Given the description of an element on the screen output the (x, y) to click on. 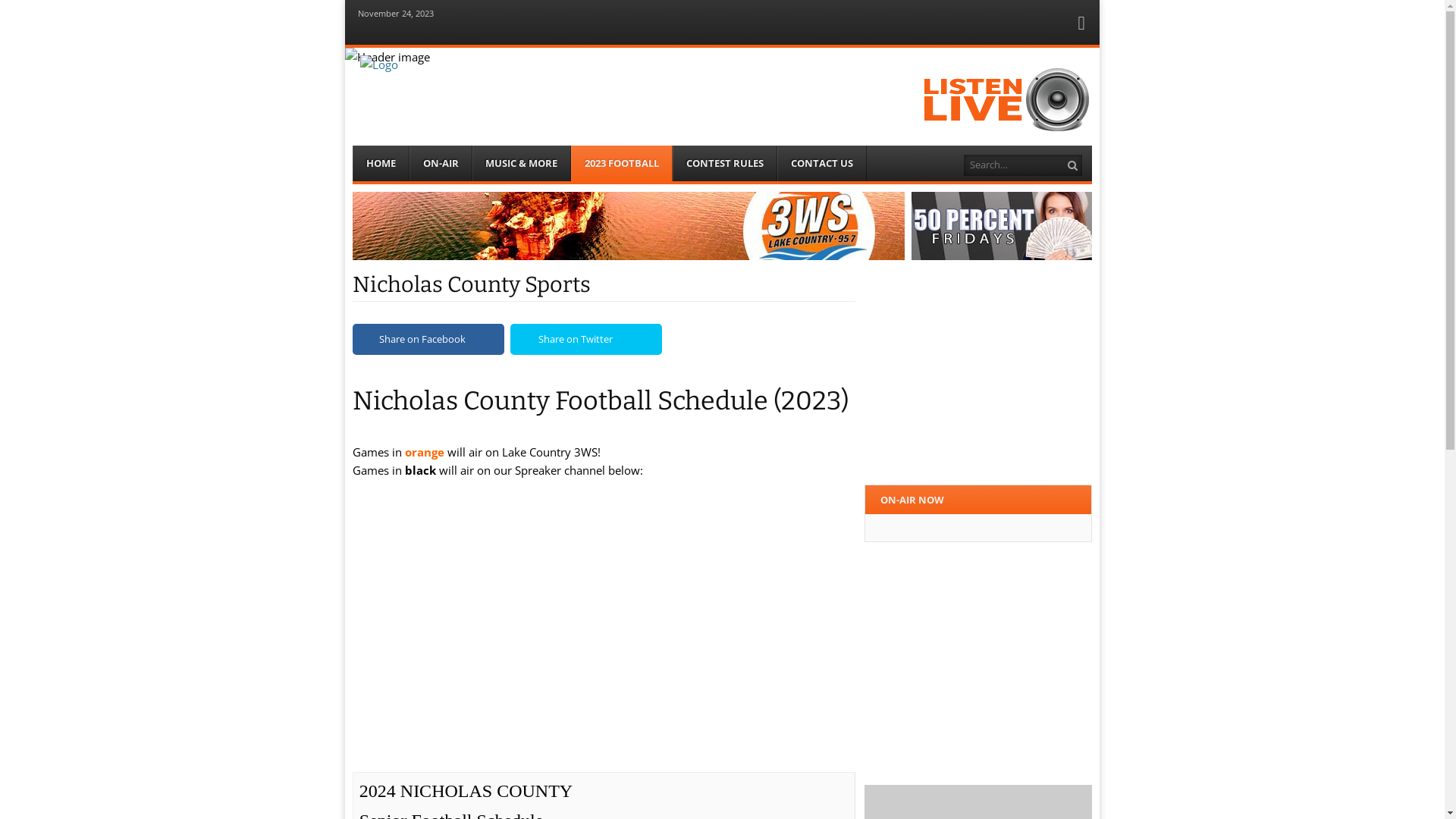
Facebook Element type: text (1081, 25)
CONTEST RULES Element type: text (724, 163)
ON-AIR Element type: text (440, 163)
CONTACT US Element type: text (821, 163)
2023 FOOTBALL Element type: text (621, 163)
Go Element type: text (1074, 165)
HOME Element type: text (380, 163)
MUSIC & MORE Element type: text (521, 163)
Share on Twitter Element type: text (586, 338)
Share on Facebook Element type: text (428, 338)
